Given the description of an element on the screen output the (x, y) to click on. 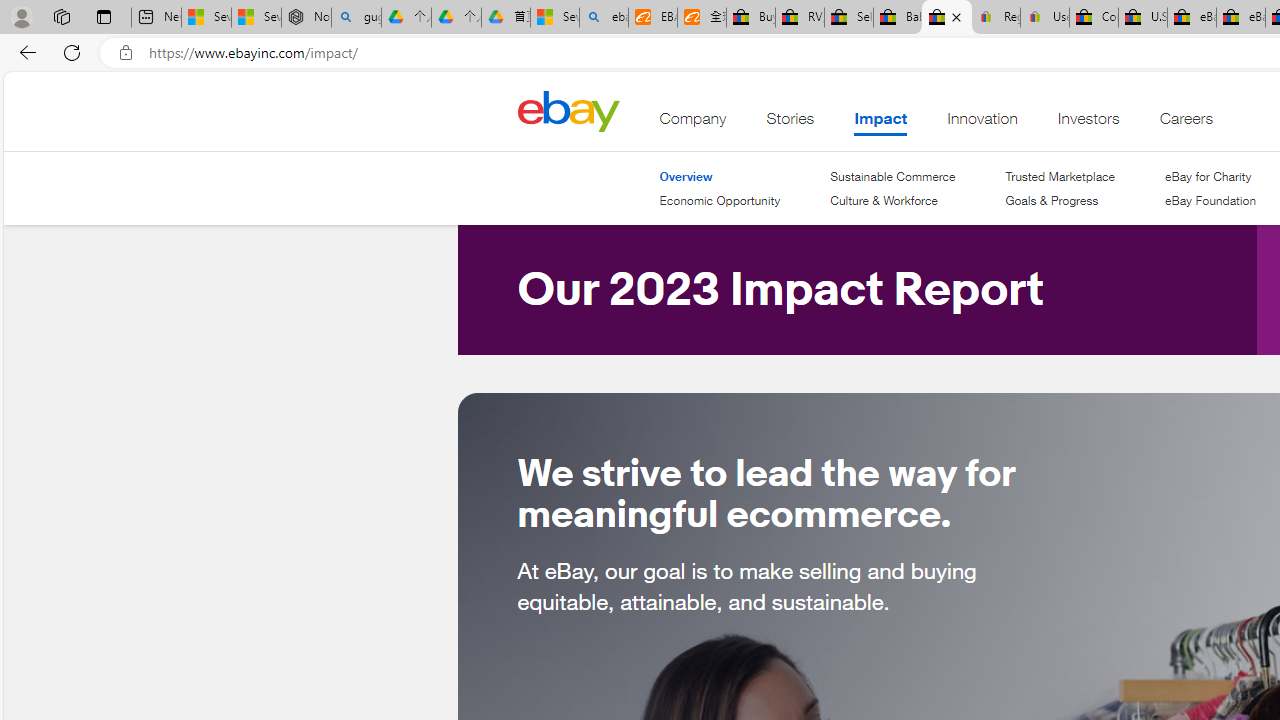
Overview (719, 176)
Investors (1088, 123)
Impact (880, 123)
Trusted Marketplace (1059, 176)
Register: Create a personal eBay account (995, 17)
Goals & Progress (1059, 201)
Innovation (982, 123)
Goals & Progress (1051, 200)
Economic Opportunity (719, 201)
Innovation (982, 123)
